Given the description of an element on the screen output the (x, y) to click on. 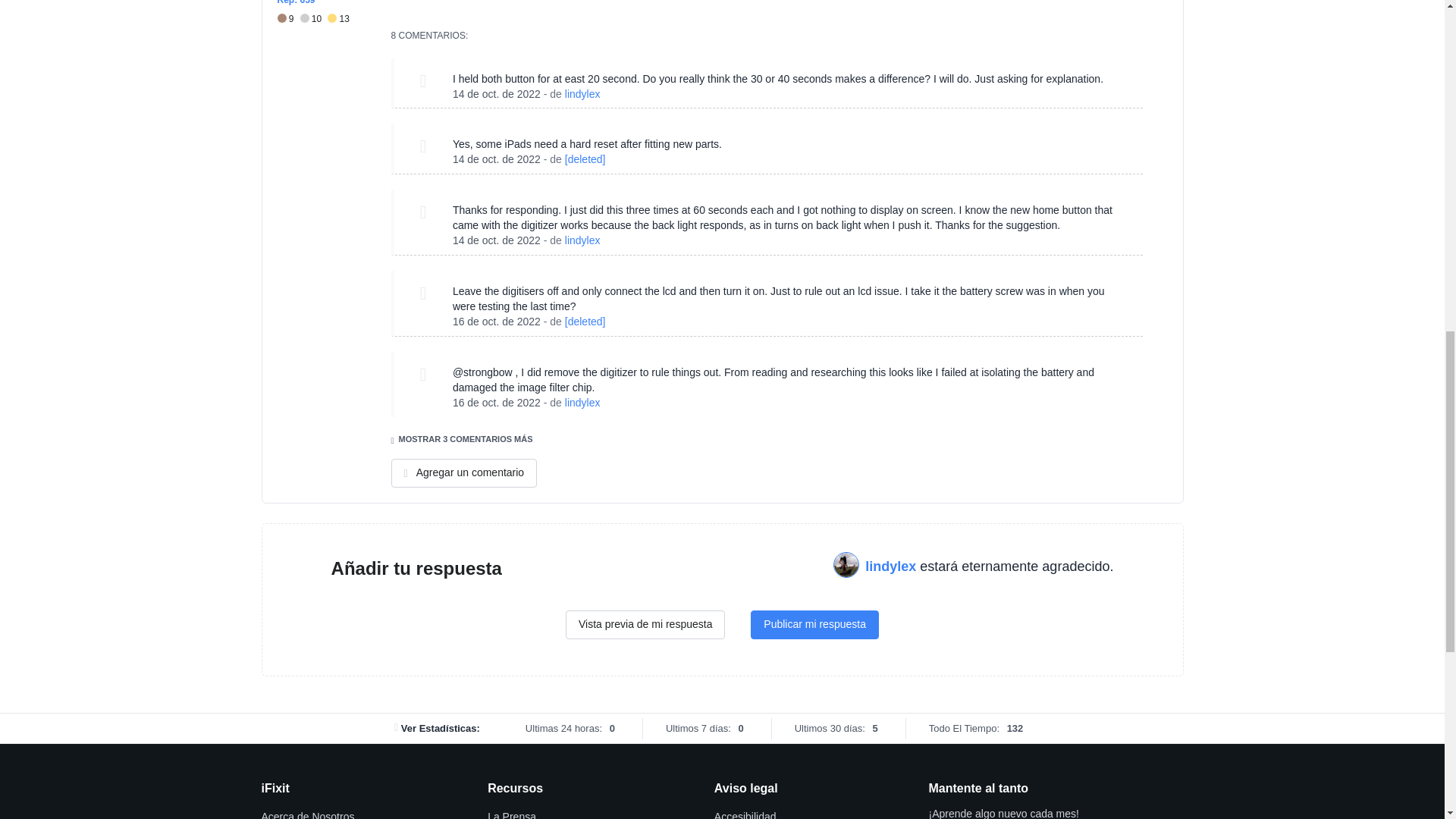
13 insignias de Oro (338, 19)
Fri, 14 Oct 2022 13:22:05 -0700 (496, 159)
Sun, 16 Oct 2022 12:32:17 -0700 (496, 321)
9 insignias de Bronce (288, 19)
Fri, 14 Oct 2022 12:52:32 -0700 (496, 93)
10 insignias de Plata (314, 19)
Fri, 14 Oct 2022 13:49:45 -0700 (496, 240)
Sun, 16 Oct 2022 21:18:35 -0700 (496, 402)
